Given the description of an element on the screen output the (x, y) to click on. 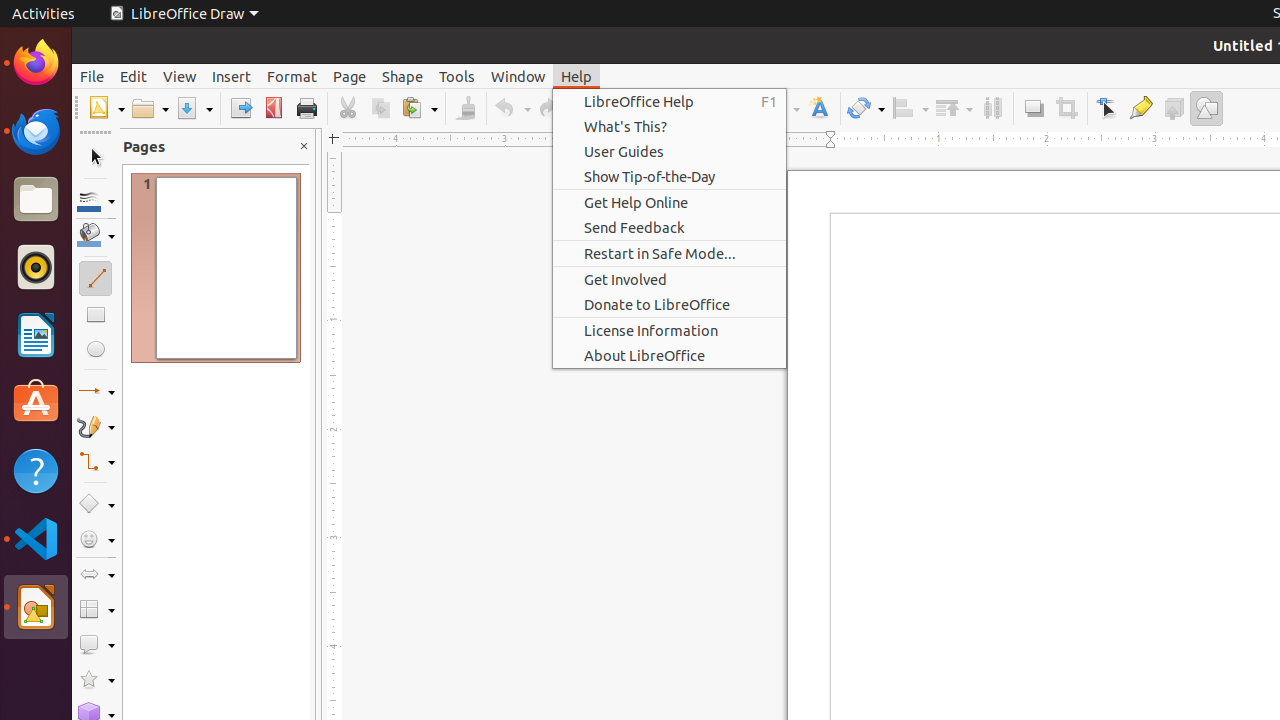
Send Feedback Element type: menu-item (669, 227)
Window Element type: menu (518, 76)
Format Element type: menu (292, 76)
